Given the description of an element on the screen output the (x, y) to click on. 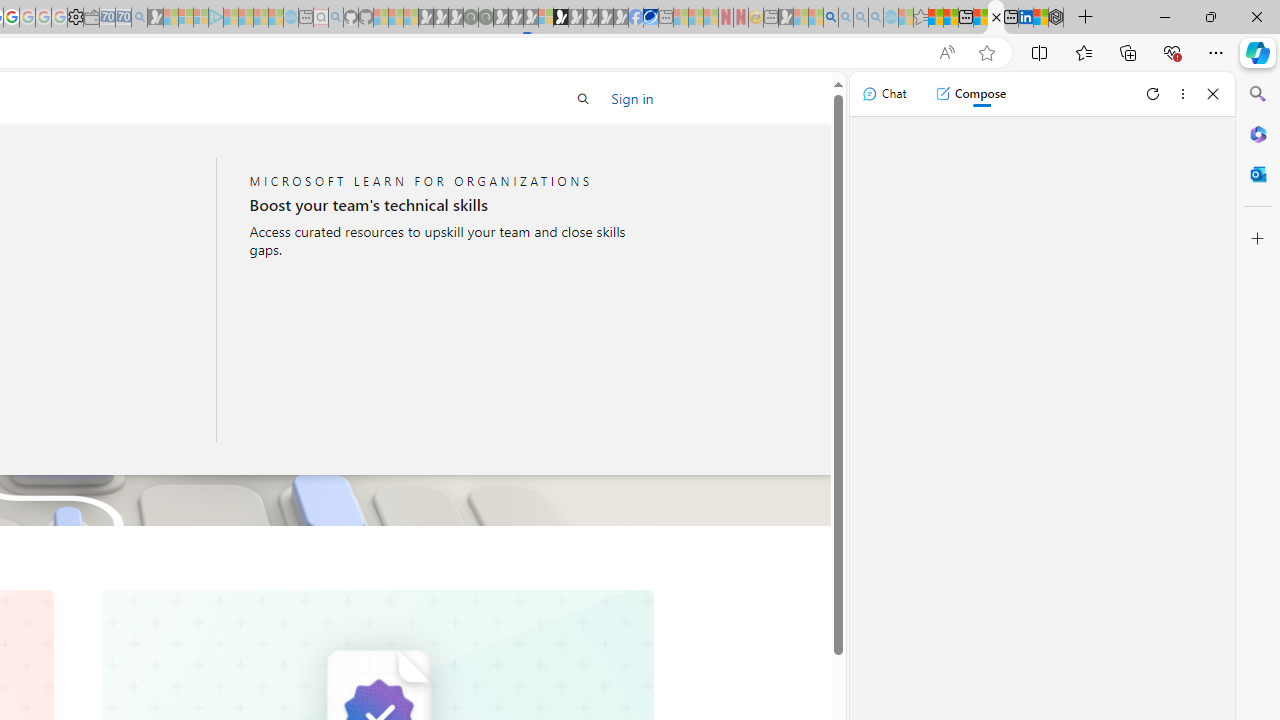
Compose (970, 93)
Sign in to your account - Sleeping (545, 17)
Nordace | Facebook - Sleeping (635, 17)
Microsoft Learn: Build skills that open doors in your career (996, 17)
